Given the description of an element on the screen output the (x, y) to click on. 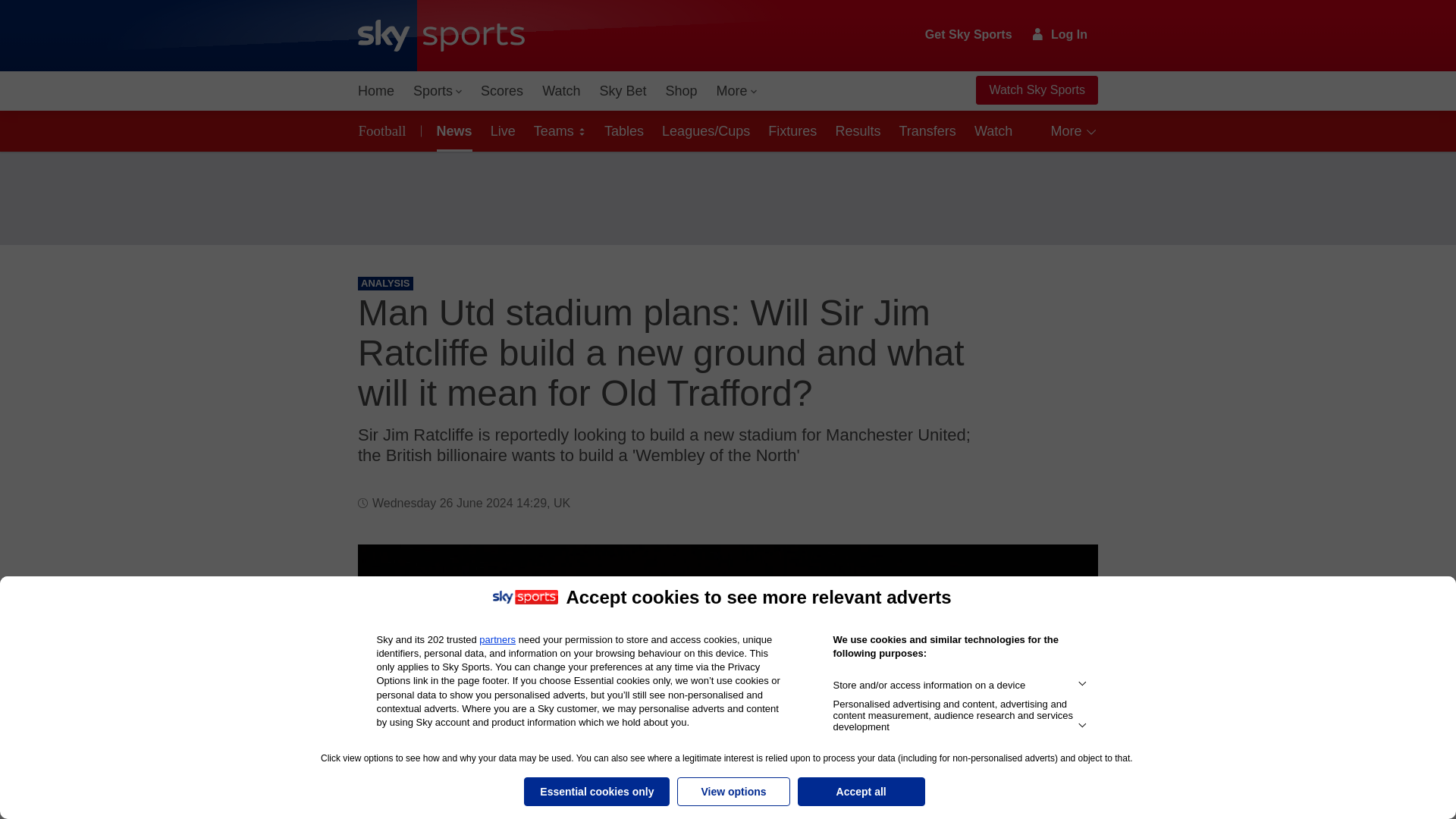
Home (375, 91)
Scores (502, 91)
Log In (1060, 33)
Football (385, 130)
News (451, 130)
Share (1067, 574)
Watch (561, 91)
Sports (437, 91)
More (736, 91)
Sky Bet (622, 91)
Shop (681, 91)
Watch Sky Sports (1036, 90)
Get Sky Sports (968, 34)
